Given the description of an element on the screen output the (x, y) to click on. 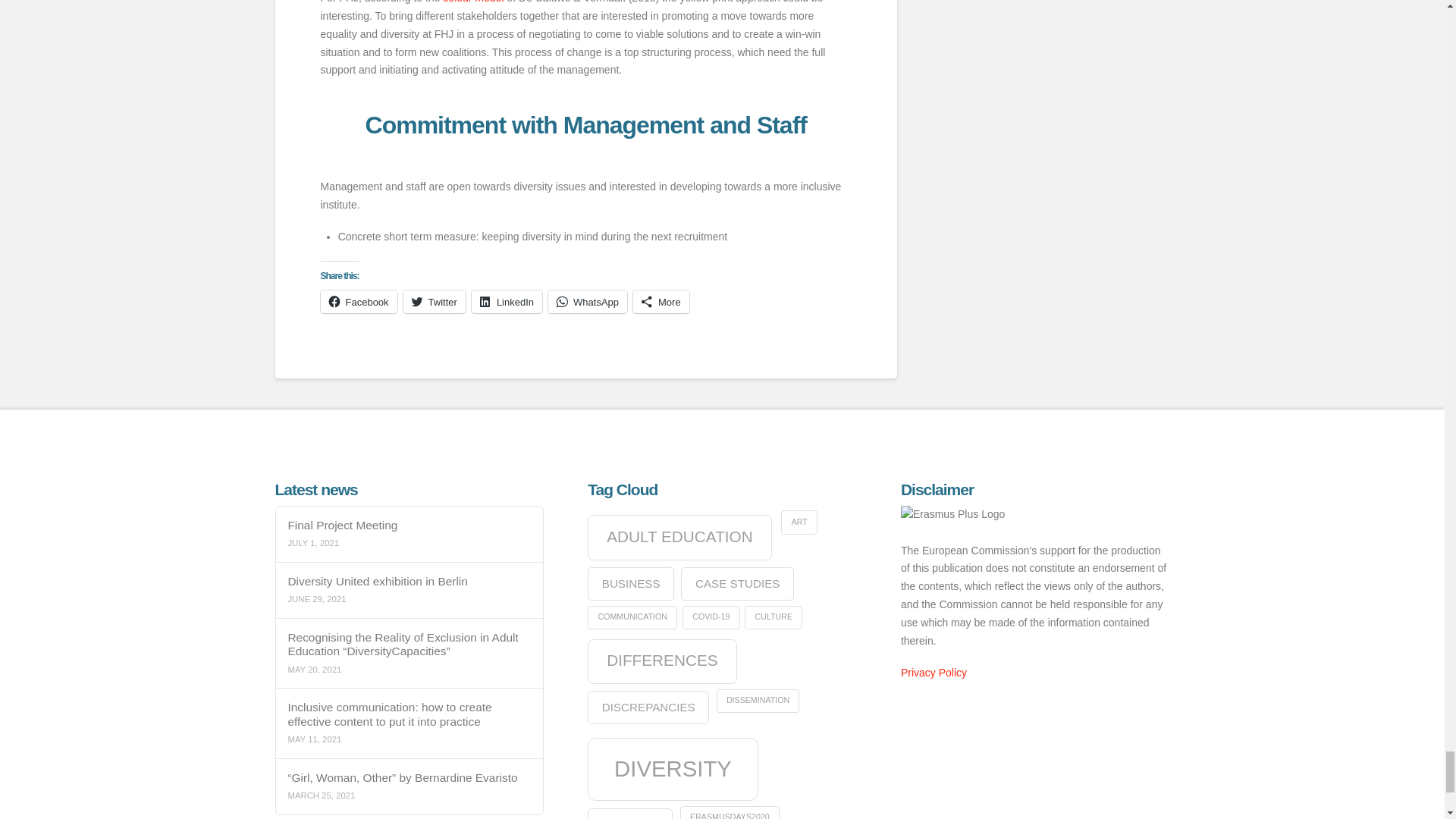
colour model (471, 2)
LinkedIn (506, 301)
Twitter (434, 301)
More (660, 301)
Facebook (358, 301)
WhatsApp (587, 301)
Click to share on LinkedIn (506, 301)
Click to share on Twitter (434, 301)
Click to share on WhatsApp (587, 301)
Click to share on Facebook (358, 301)
